Given the description of an element on the screen output the (x, y) to click on. 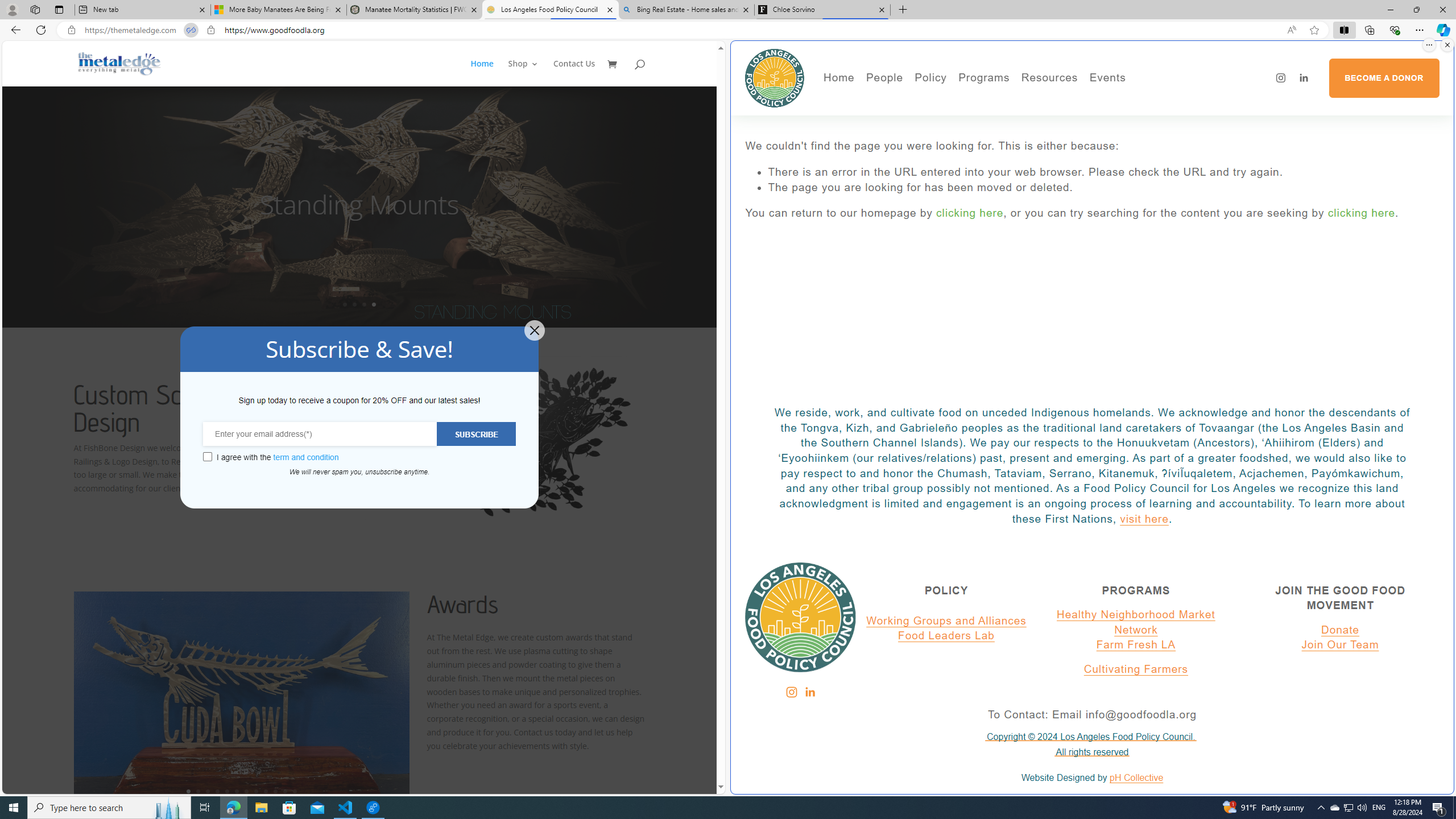
pH Collective (1136, 777)
2 (198, 790)
SoCal Impact Food Fund (1093, 116)
10 (275, 790)
Cultivating Farmers  (1135, 669)
Publications (994, 116)
Events (1146, 99)
Good Food Zones (1093, 99)
Split screen (1344, 29)
BECOME A DONOR (1383, 77)
App bar (728, 29)
Close split screen. (1447, 45)
Working Groups and Alliances (946, 620)
